Given the description of an element on the screen output the (x, y) to click on. 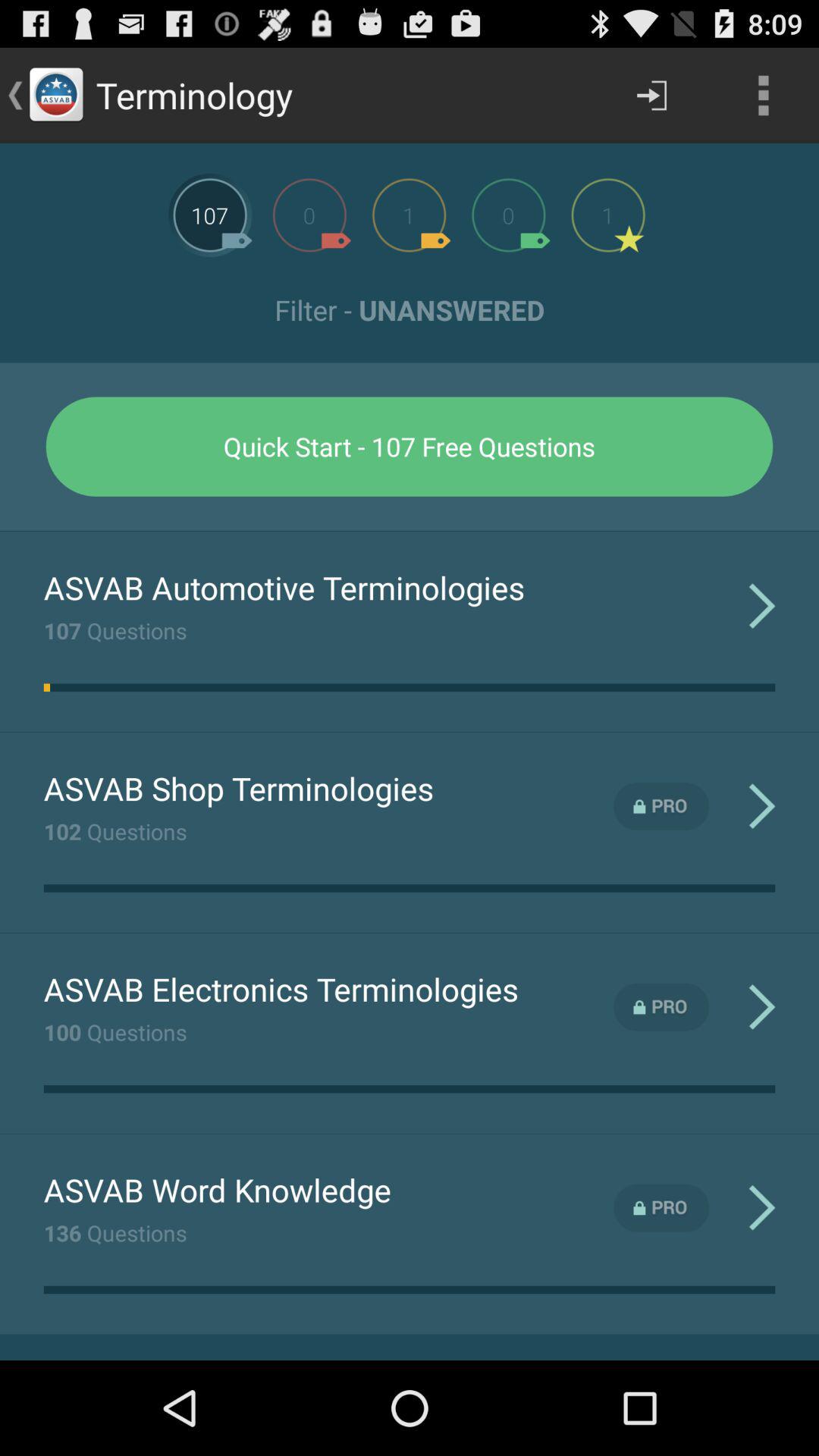
turn off 102 questions (115, 831)
